Given the description of an element on the screen output the (x, y) to click on. 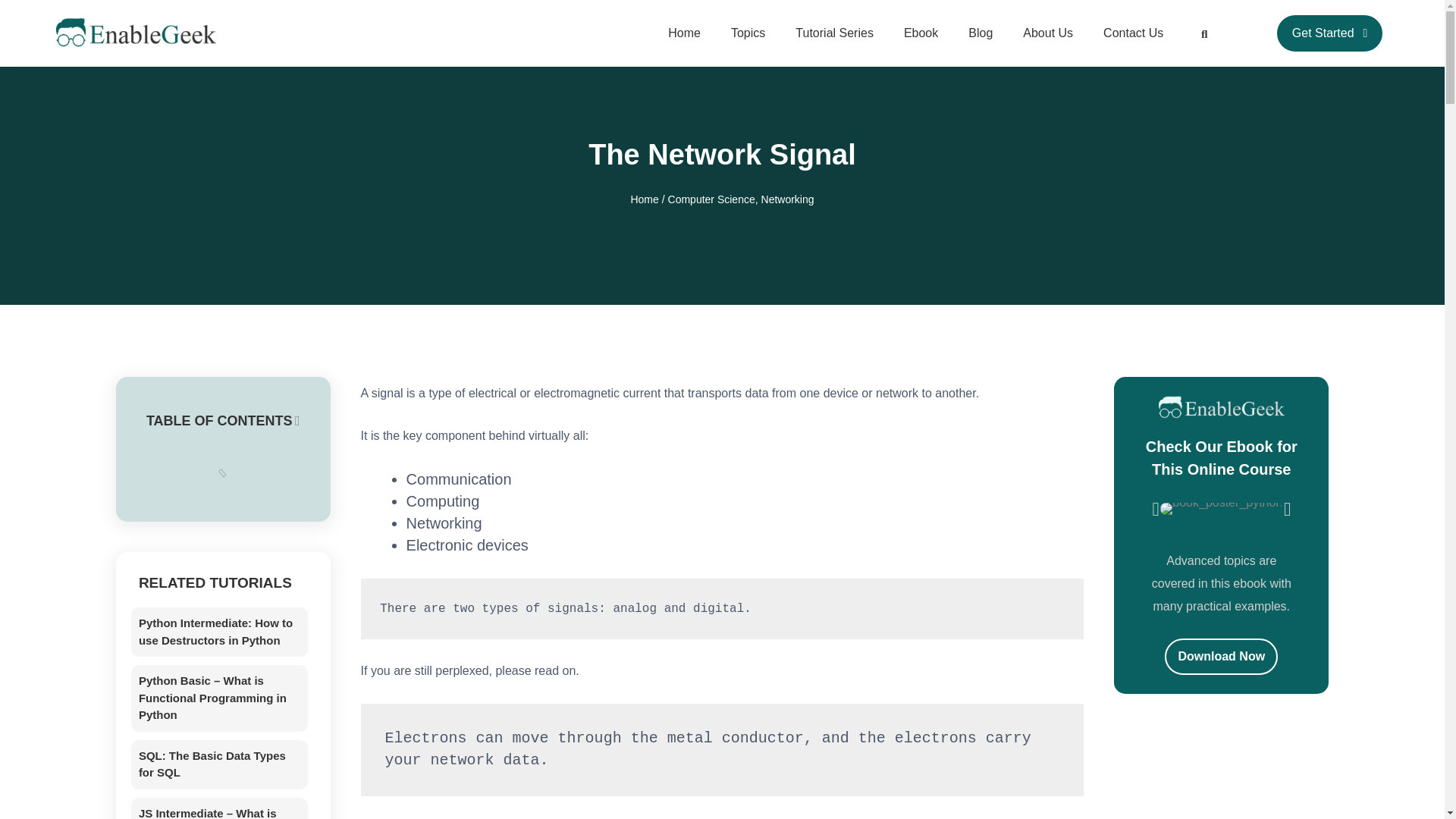
Tutorial Series (834, 33)
Topics (748, 33)
Home (684, 33)
